Given the description of an element on the screen output the (x, y) to click on. 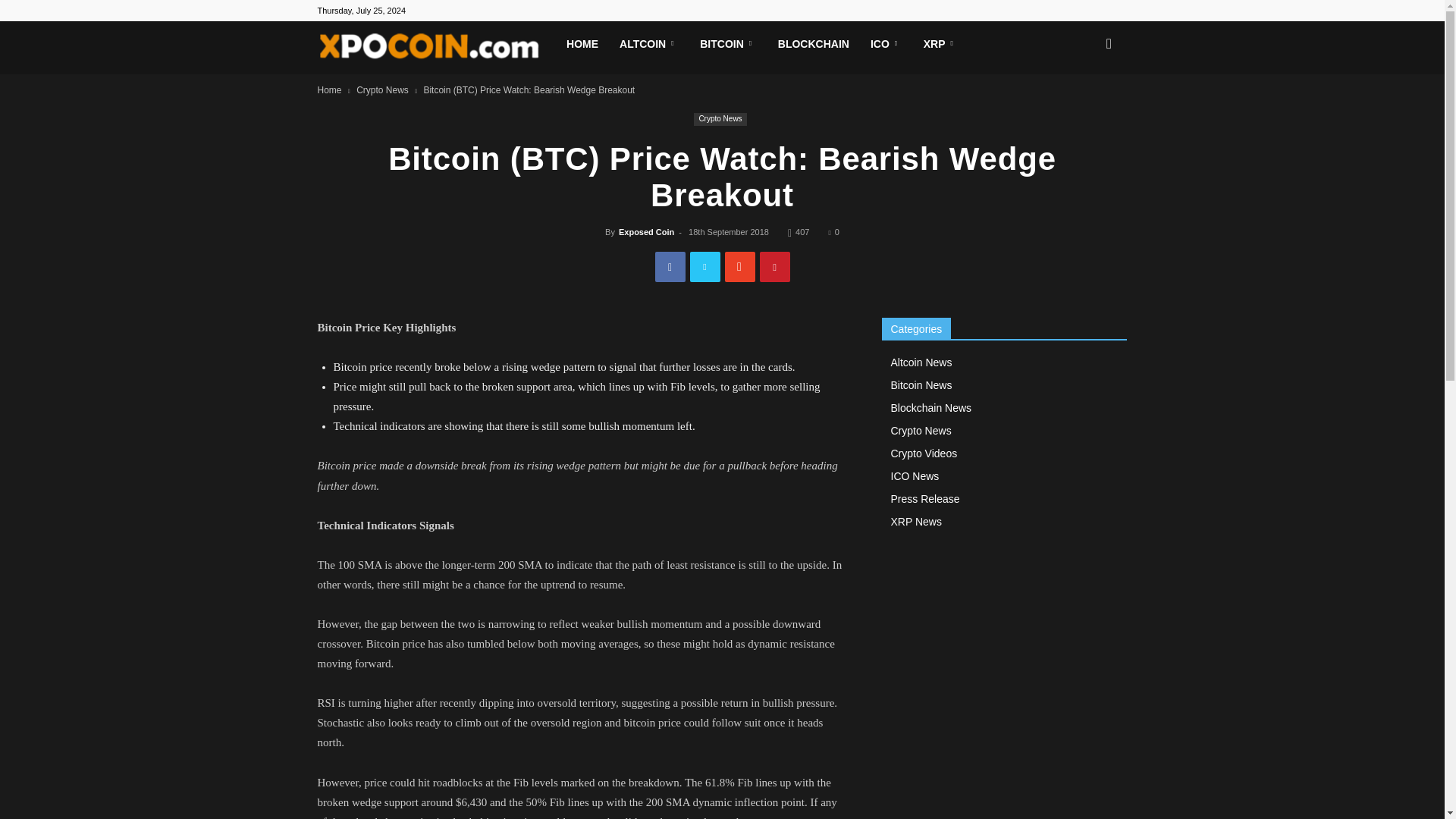
BITCOIN (727, 43)
HOME (582, 43)
ALTCOIN (648, 43)
XPOCOIN (436, 47)
